Given the description of an element on the screen output the (x, y) to click on. 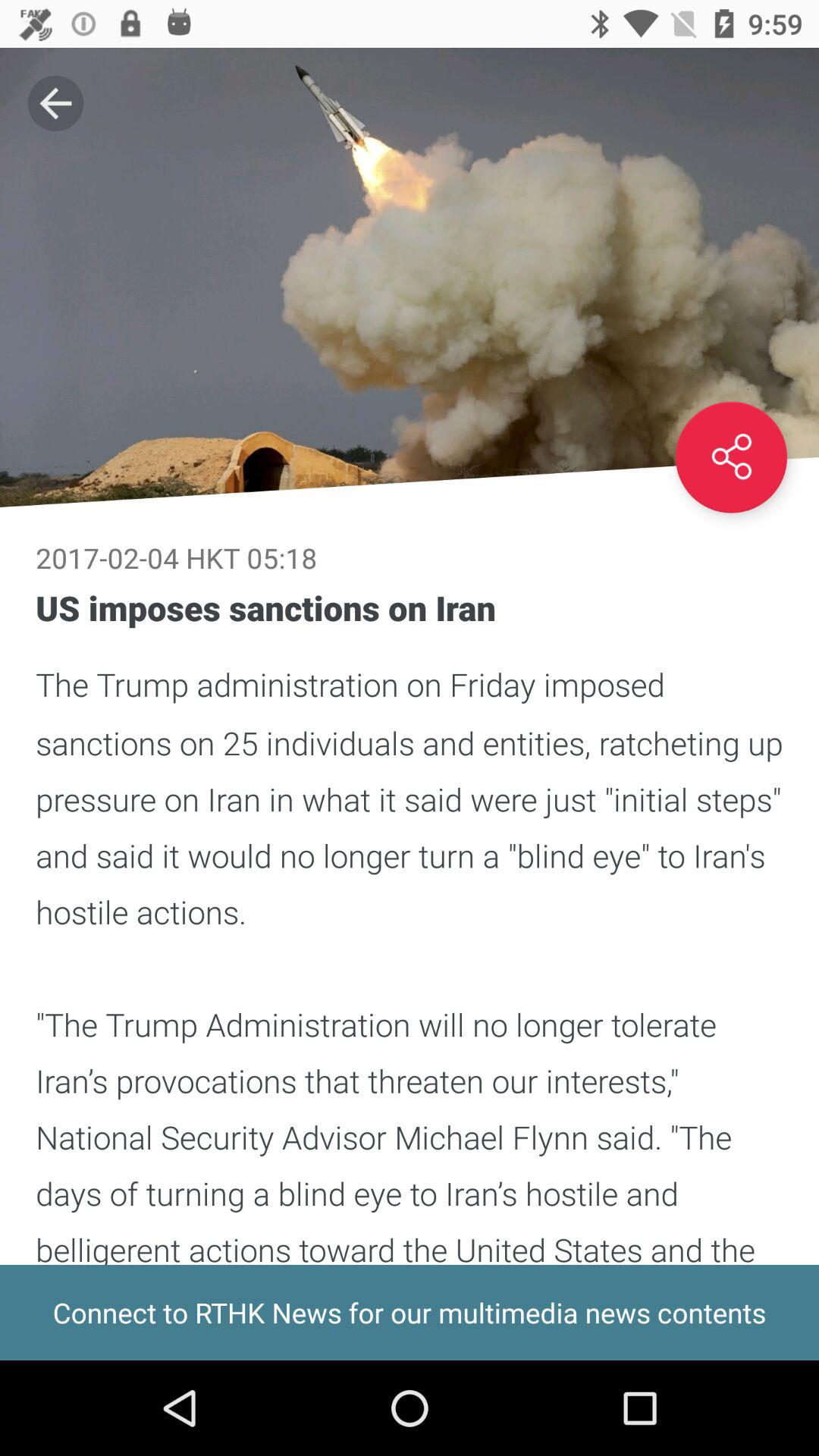
choose the app next to the news item (55, 103)
